Given the description of an element on the screen output the (x, y) to click on. 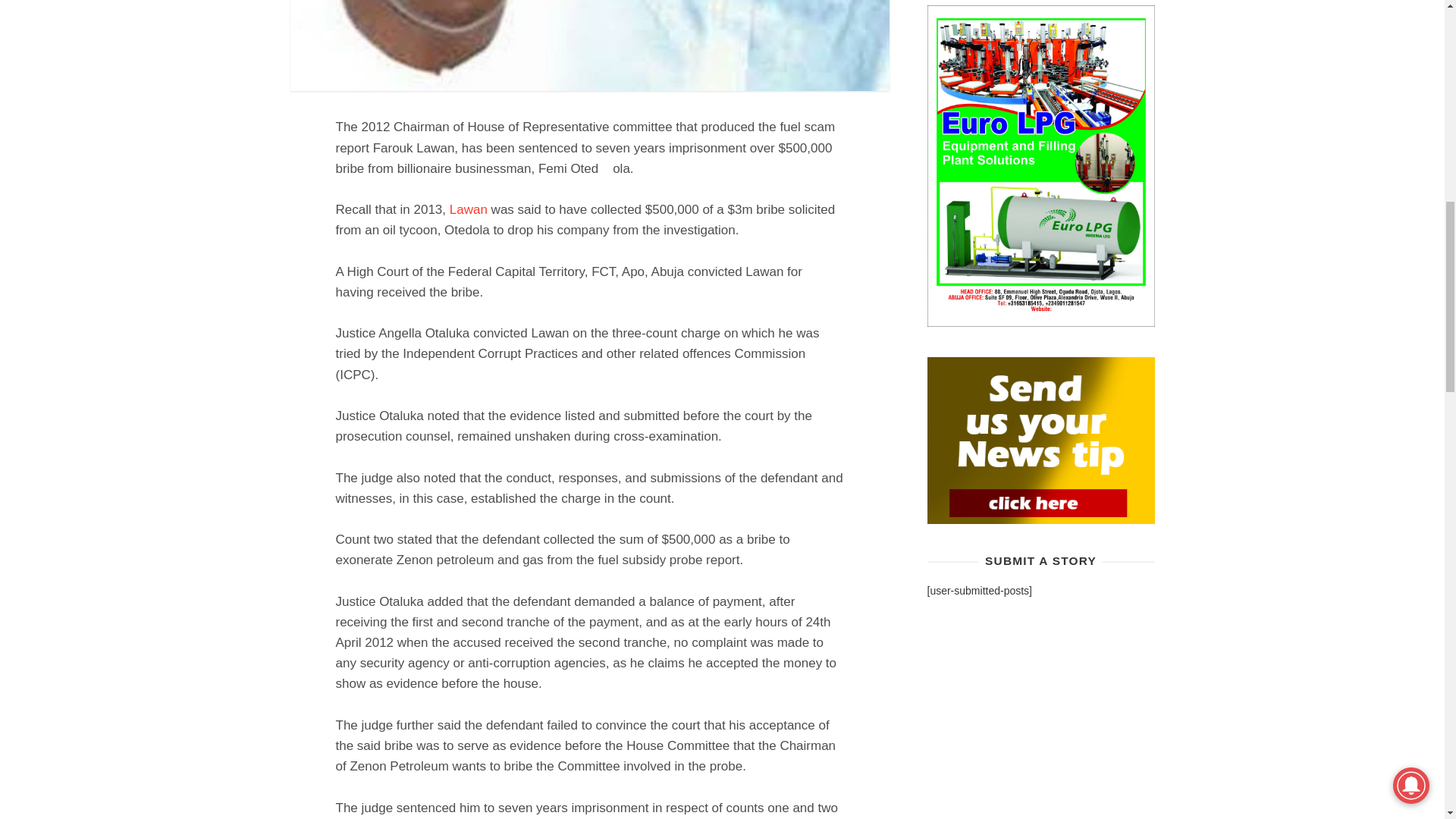
Send us your news tip (1040, 439)
Lawan (468, 209)
